Given the description of an element on the screen output the (x, y) to click on. 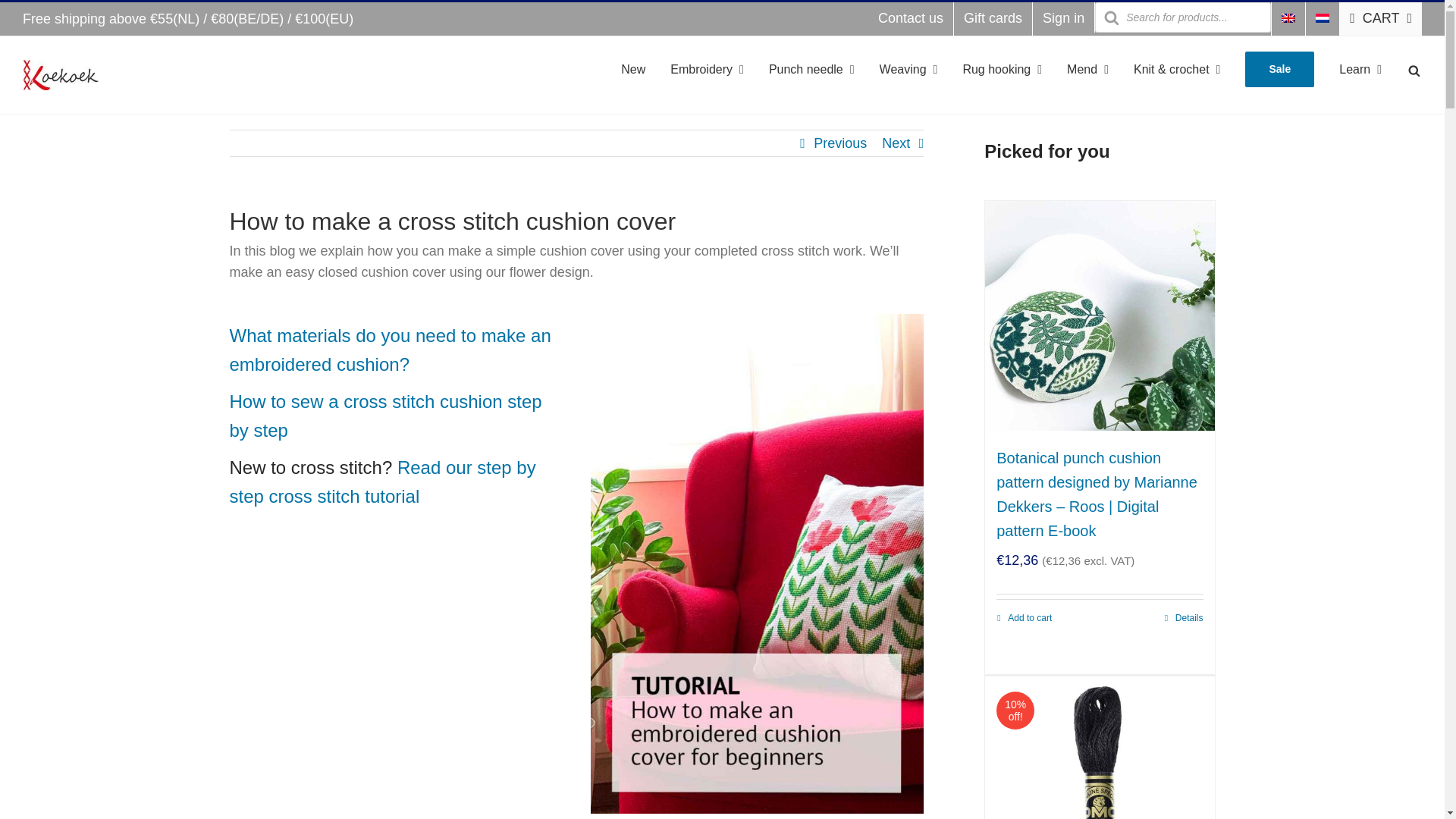
Gift cards (992, 19)
Embroidery (706, 67)
CART (1380, 19)
Sign in (1063, 19)
Contact us (910, 19)
